Given the description of an element on the screen output the (x, y) to click on. 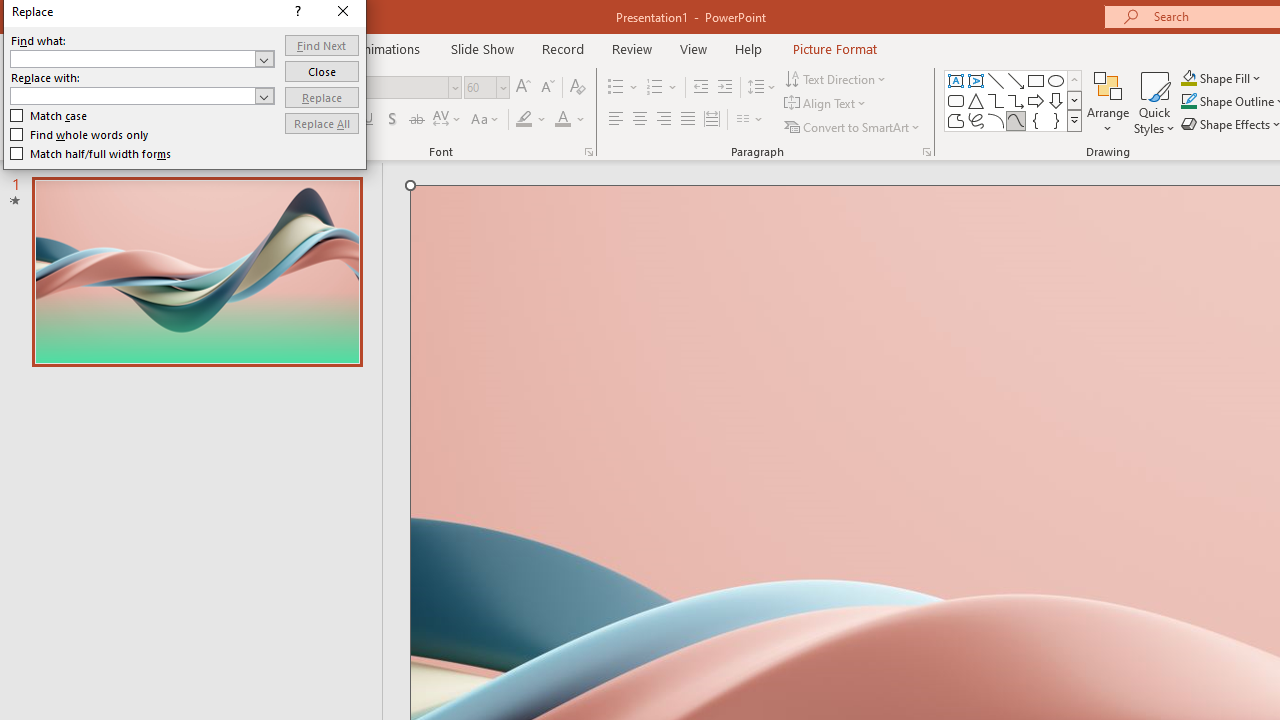
Find what (142, 58)
Picture Format (834, 48)
